Given the description of an element on the screen output the (x, y) to click on. 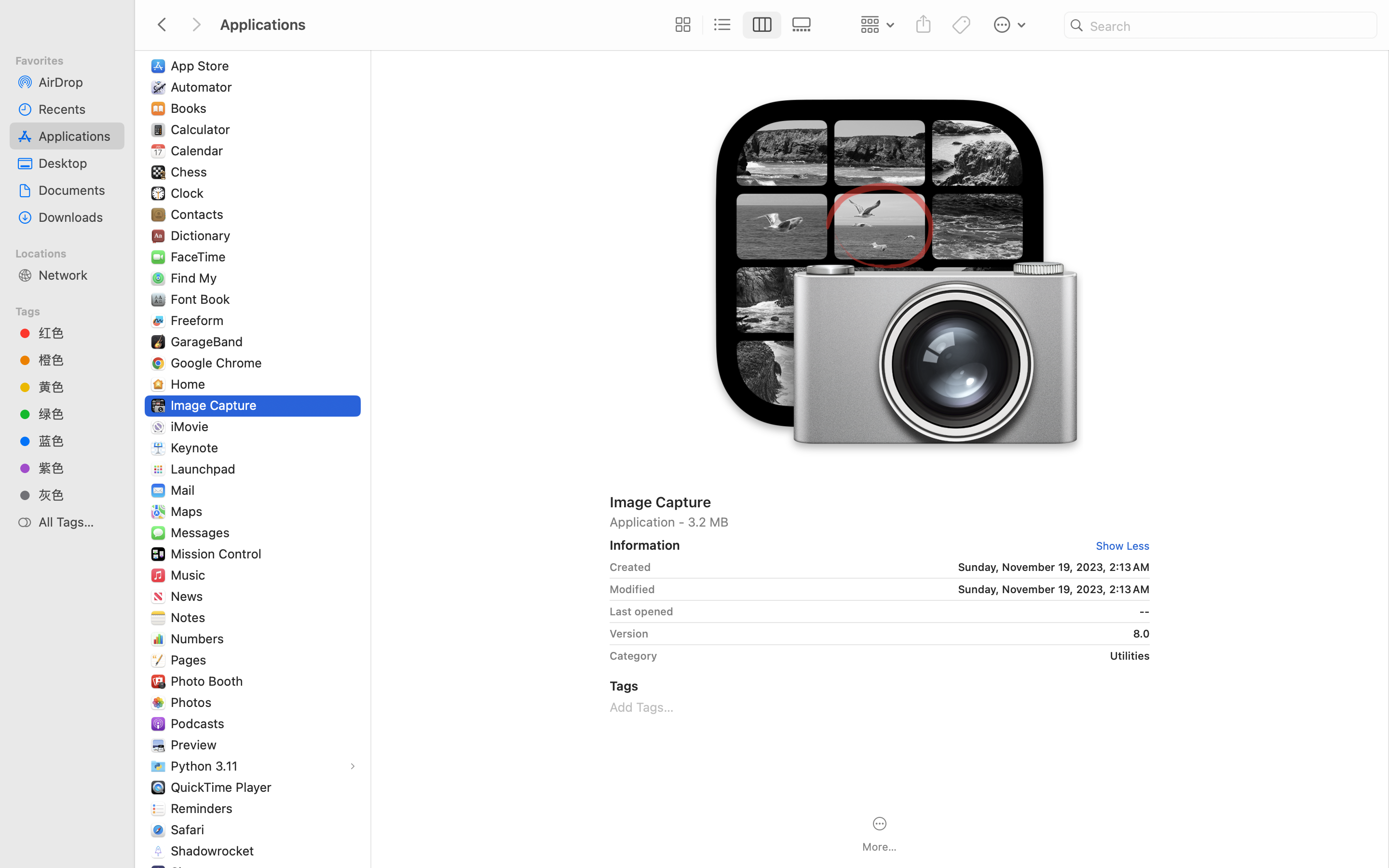
Music Element type: AXTextField (189, 574)
Safari Element type: AXTextField (189, 829)
Sunday, November 19, 2023, 2:13 AM Element type: AXStaticText (903, 566)
Version Element type: AXStaticText (628, 633)
Tags Element type: AXStaticText (72, 309)
